Given the description of an element on the screen output the (x, y) to click on. 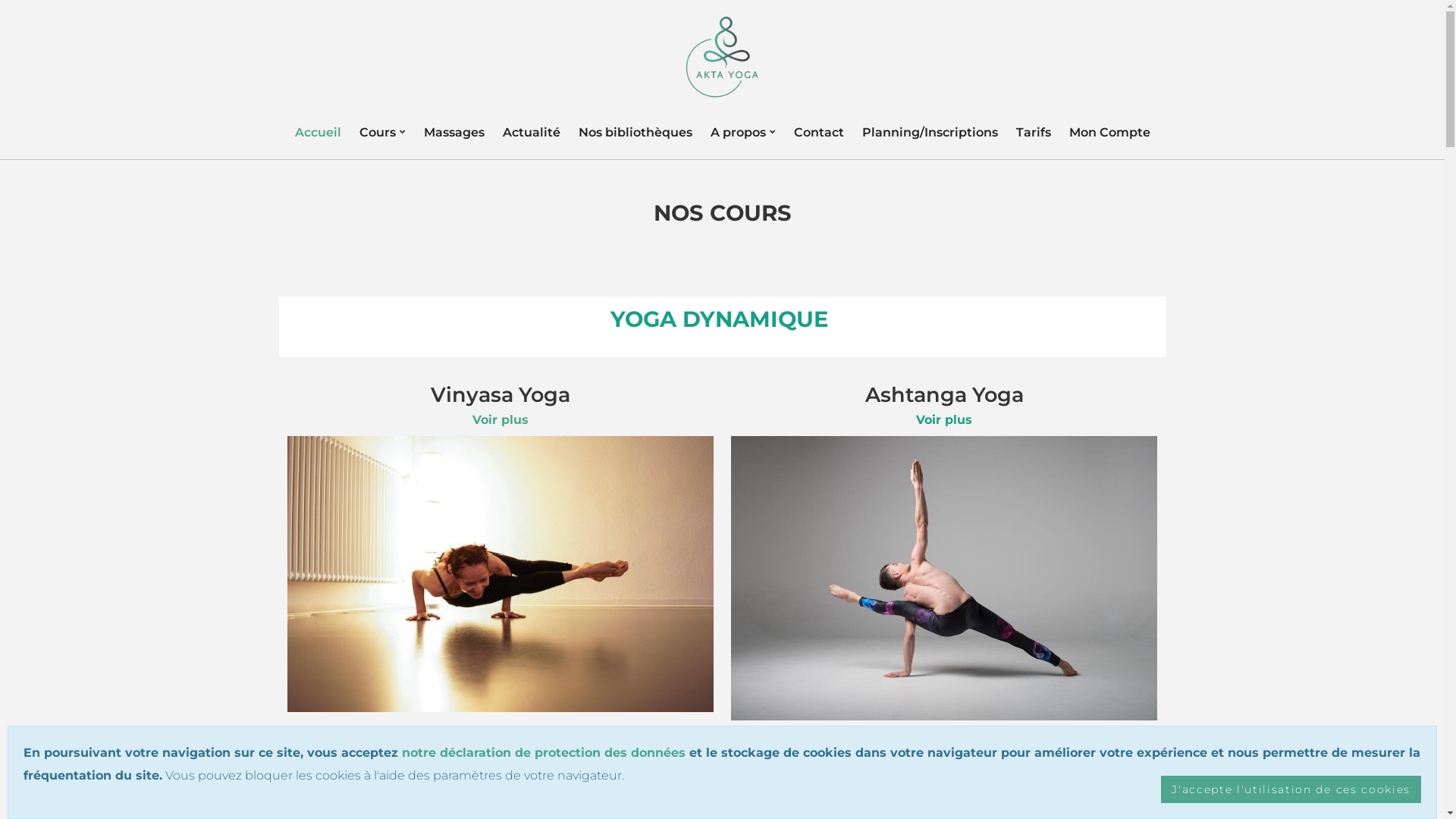
Cours Element type: text (382, 132)
Tarifs Element type: text (1033, 132)
Voir plus Element type: text (944, 419)
Voir plus Element type: text (500, 797)
Contact Element type: text (817, 132)
A propos Element type: text (742, 132)
Voir plus Element type: text (944, 797)
Accueil Element type: text (317, 132)
Mon Compte Element type: text (1109, 132)
J'accepte l'utilisation de ces cookies Element type: text (1291, 789)
Planning/Inscriptions Element type: text (928, 132)
Voir plus Element type: text (500, 419)
Massages Element type: text (453, 132)
